Given the description of an element on the screen output the (x, y) to click on. 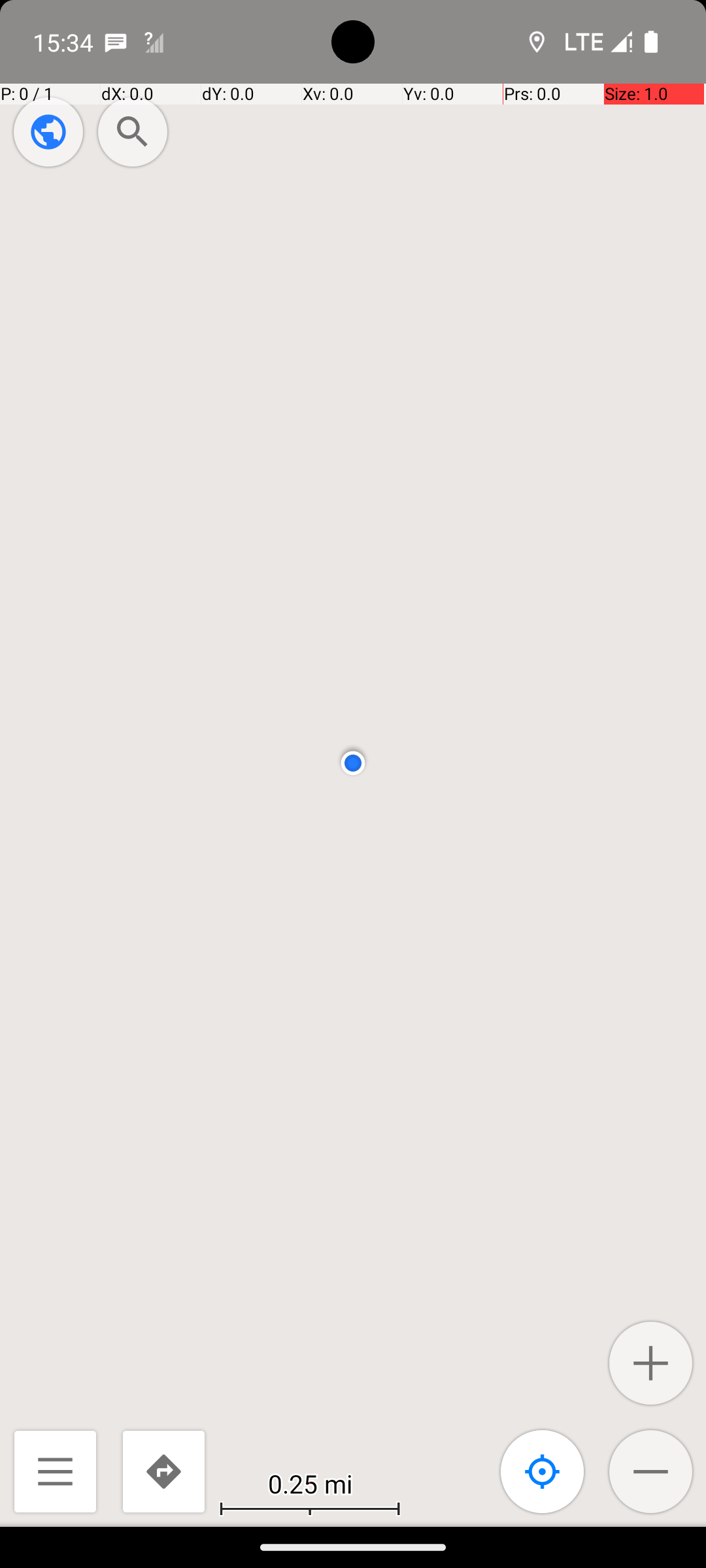
0.25 mi Element type: android.widget.TextView (309, 1483)
Map linked to location Element type: android.widget.ImageButton (542, 1471)
